Given the description of an element on the screen output the (x, y) to click on. 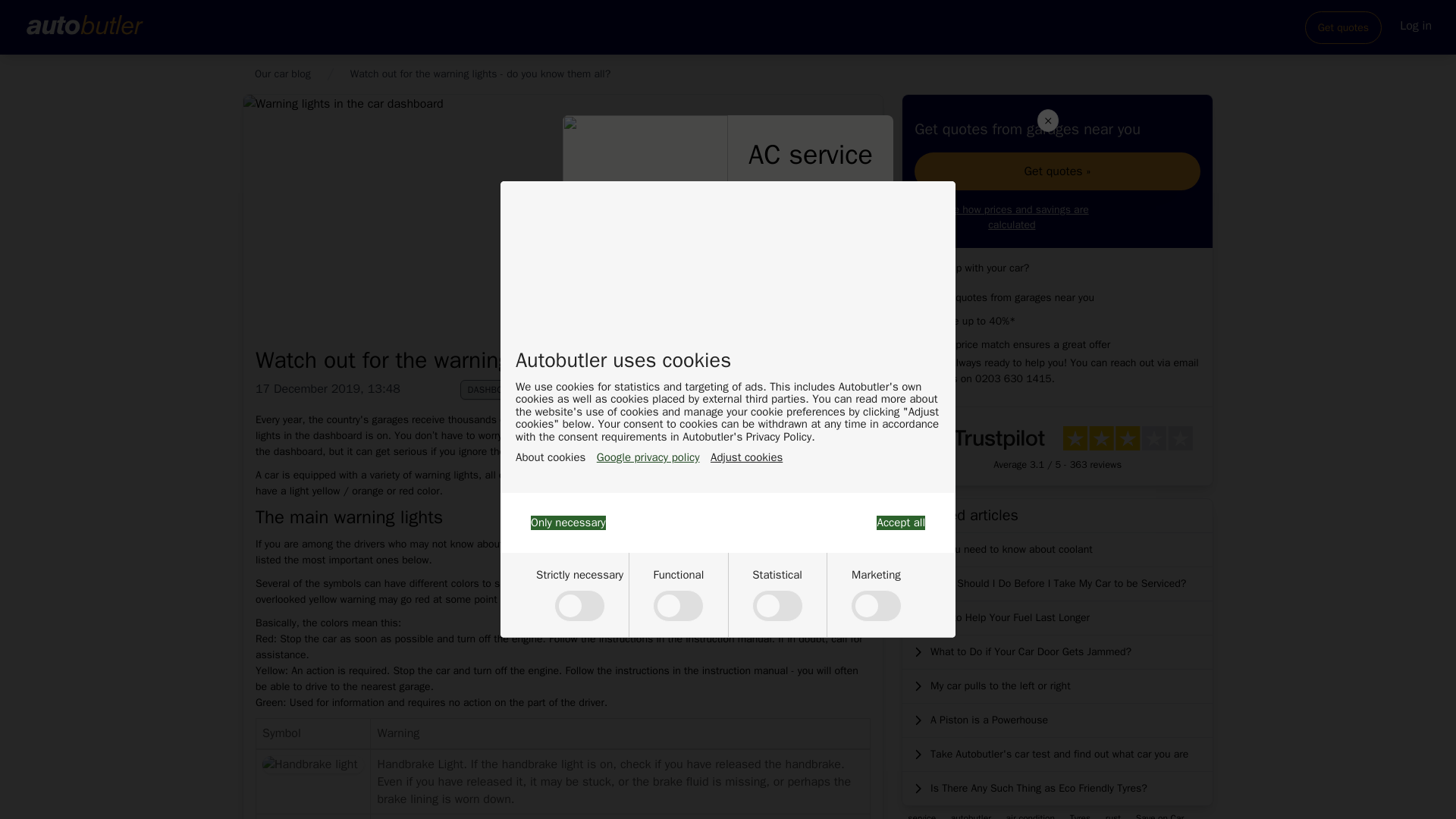
About cookies (550, 457)
Adjust cookies (746, 457)
Google privacy policy (648, 457)
Only necessary (568, 522)
Accept all (900, 522)
